Given the description of an element on the screen output the (x, y) to click on. 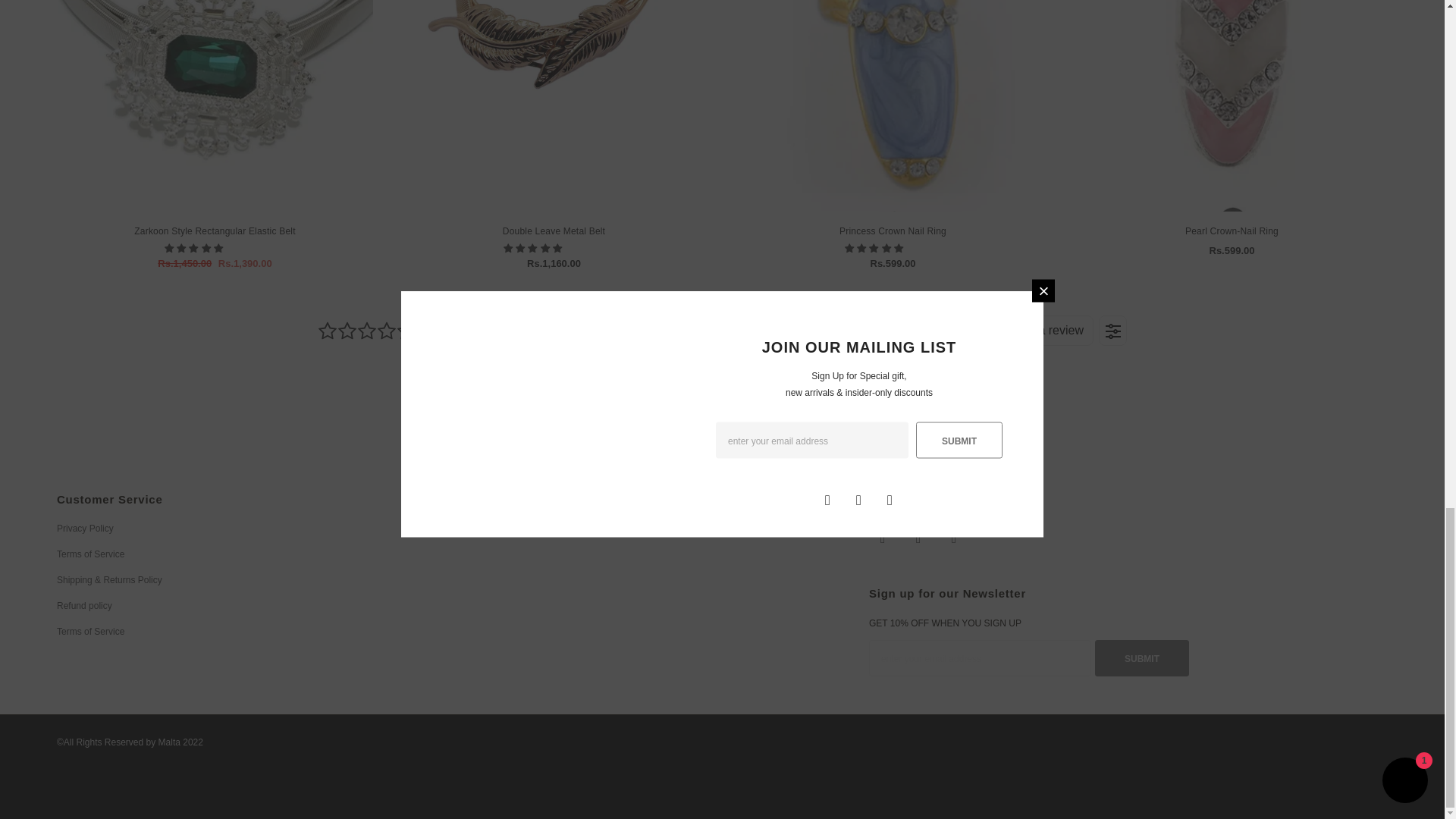
Submit (1141, 657)
